Given the description of an element on the screen output the (x, y) to click on. 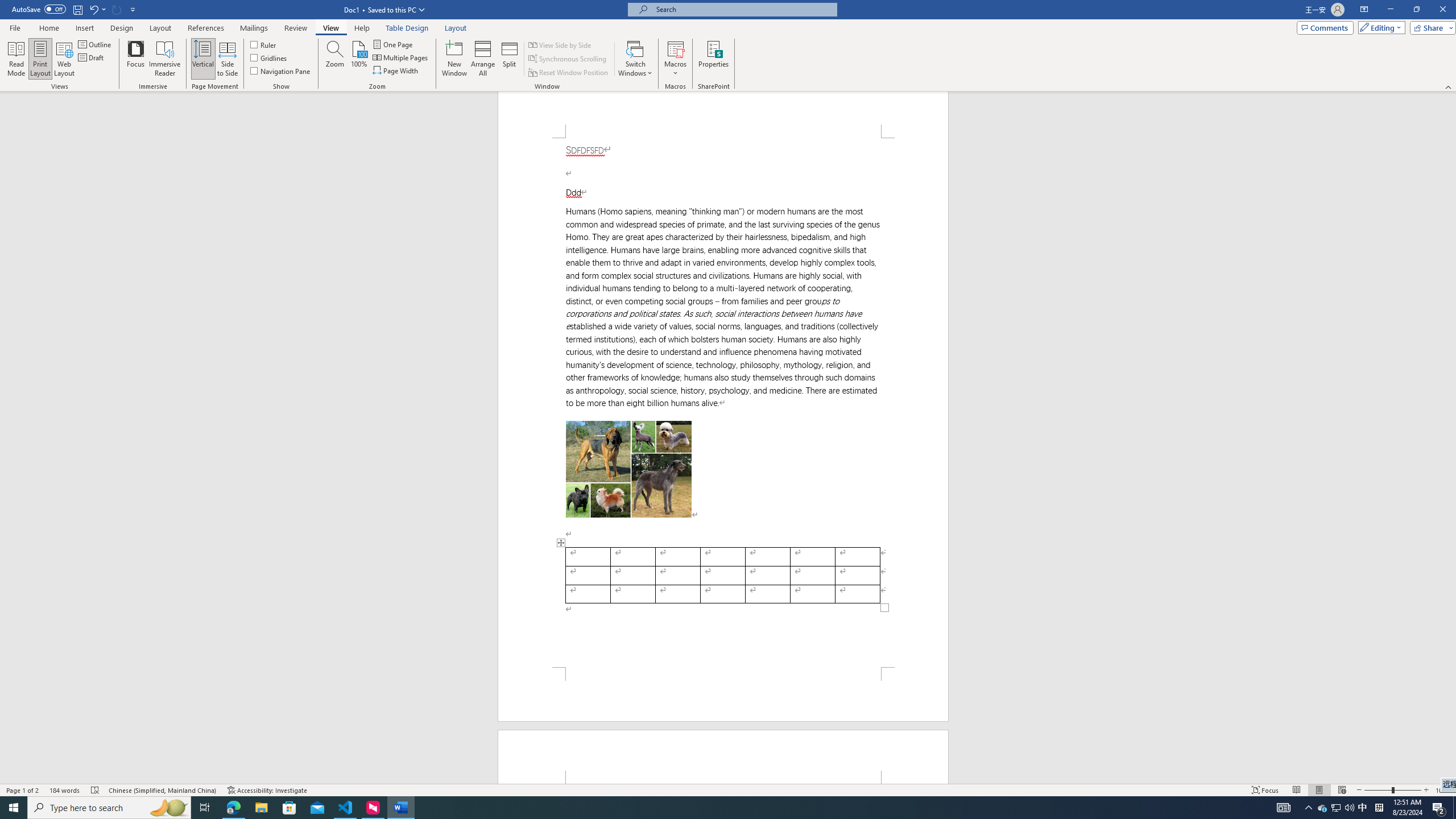
Table Design (407, 28)
Properties (713, 58)
Zoom (1392, 790)
Vertical (202, 58)
Multiple Pages (400, 56)
Class: MsoCommandBar (728, 45)
Immersive Reader (165, 58)
Macros (675, 58)
